Given the description of an element on the screen output the (x, y) to click on. 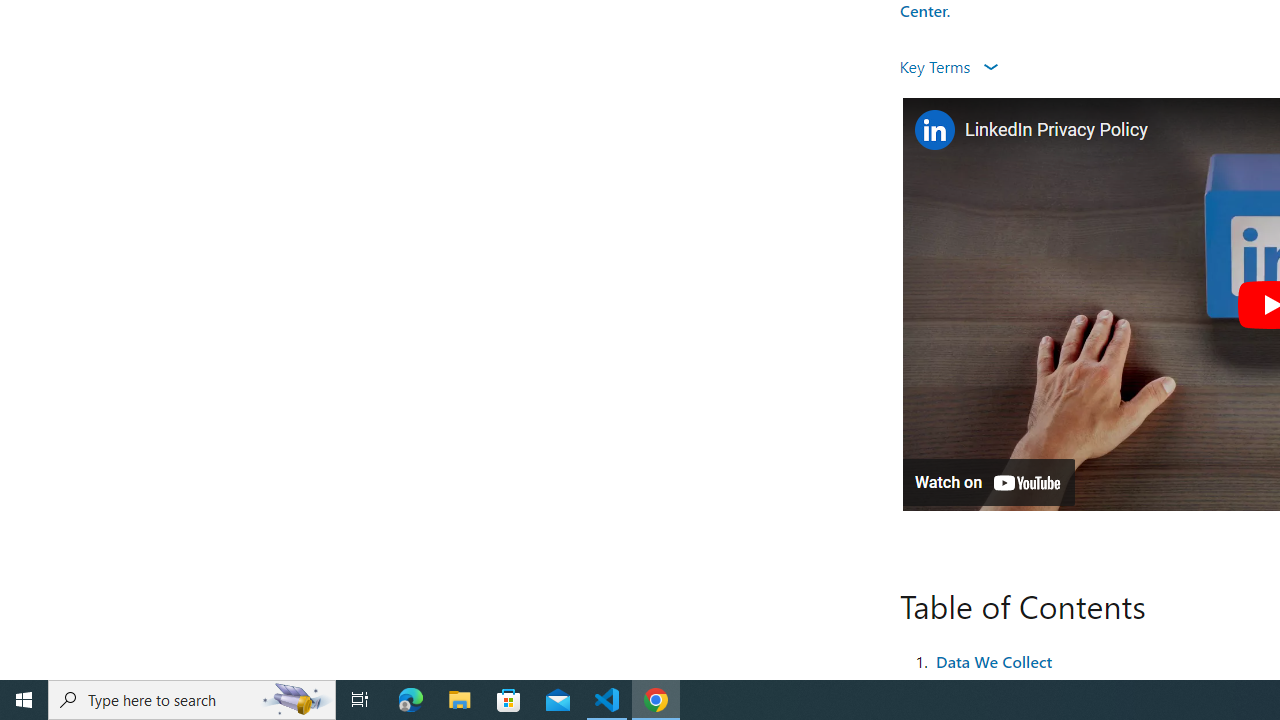
Watch on YouTube (988, 482)
Key Terms  (948, 66)
Data We Collect (993, 660)
Photo image of LinkedIn (933, 129)
